Given the description of an element on the screen output the (x, y) to click on. 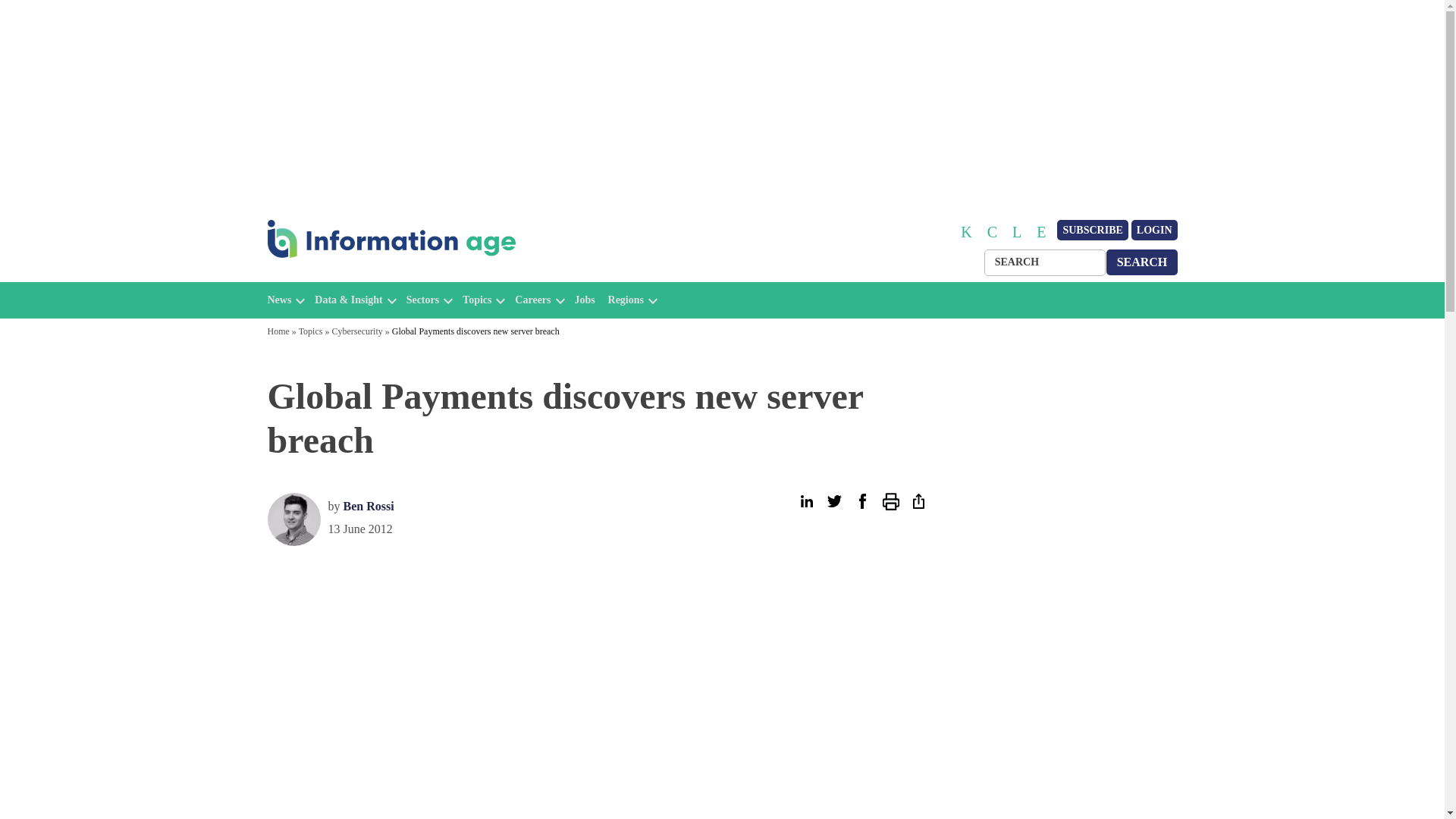
Print this article (890, 501)
3rd party ad content (1249, 596)
3rd party ad content (1062, 596)
LOGIN (1154, 230)
SEARCH (1142, 261)
Share on LinkedIn (805, 501)
3rd party ad content (195, 596)
Sectors (422, 299)
Share on Facebook (861, 501)
News (278, 299)
SUBSCRIBE (1091, 230)
Information Age (331, 275)
Tweet this article (835, 501)
